Given the description of an element on the screen output the (x, y) to click on. 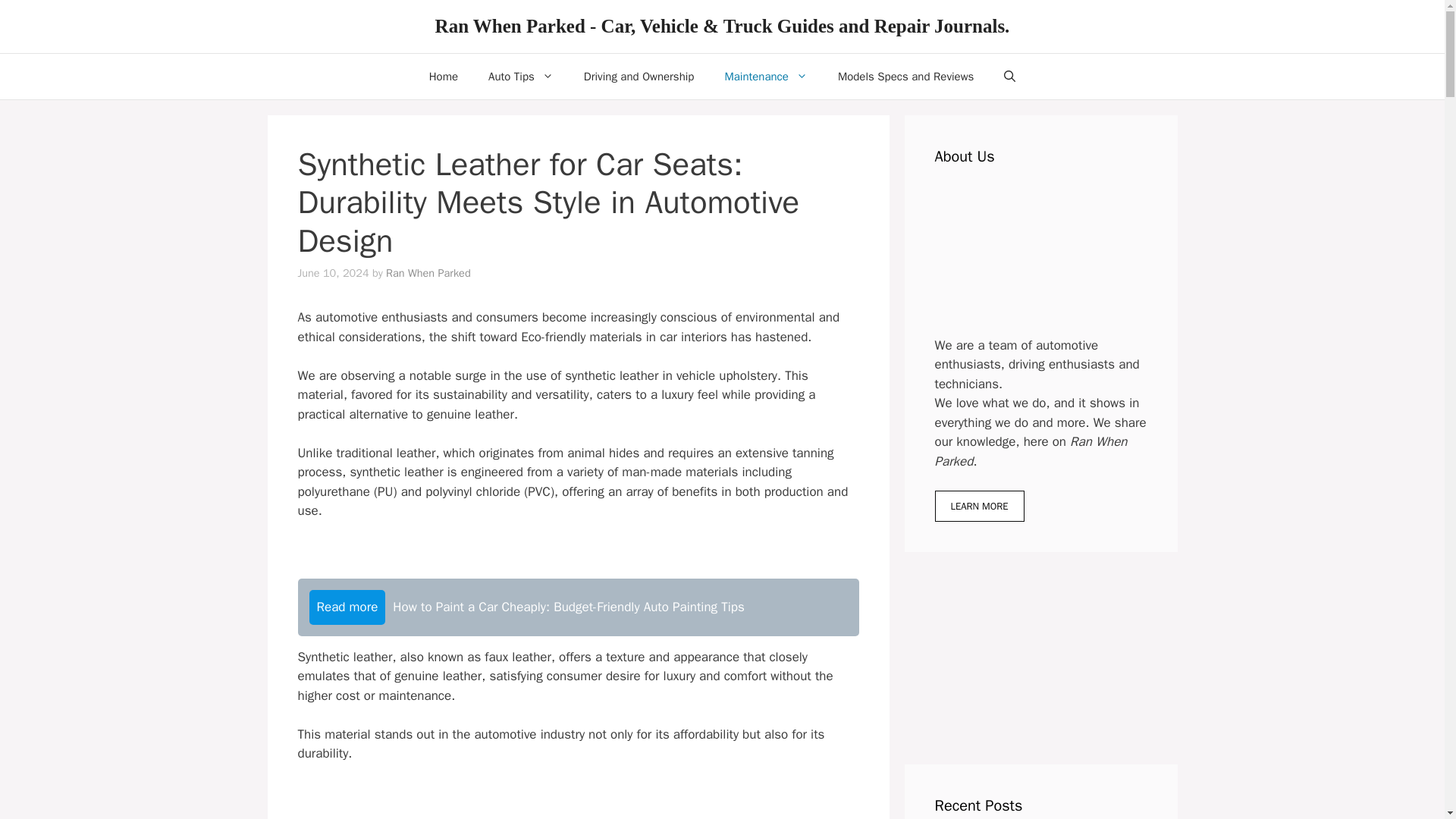
Maintenance (765, 76)
View all posts by Ran When Parked (427, 273)
Models Specs and Reviews (905, 76)
Ran When Parked (427, 273)
Driving and Ownership (639, 76)
Home (443, 76)
Auto Tips (521, 76)
